Given the description of an element on the screen output the (x, y) to click on. 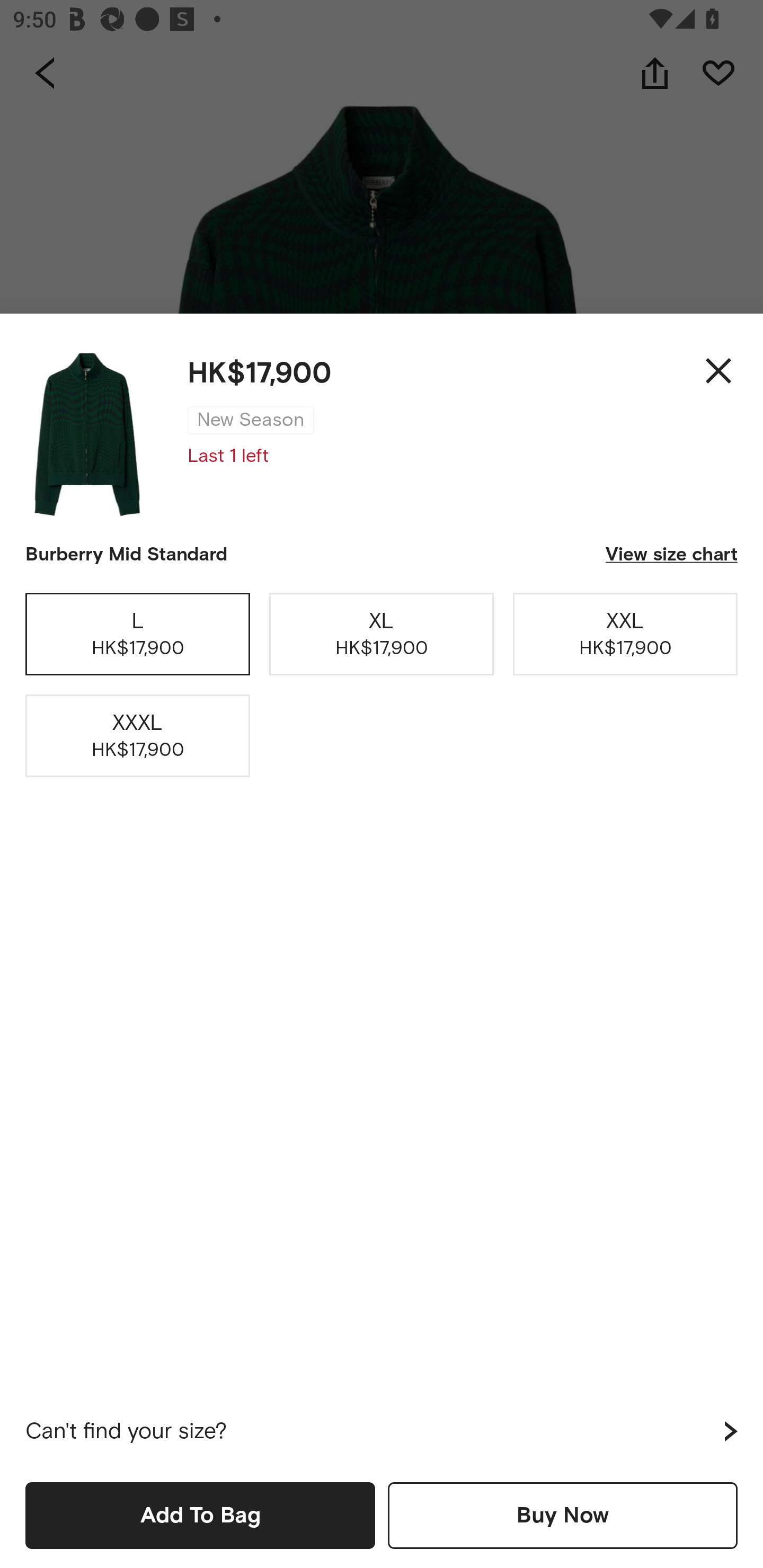
L HK$17,900 (137, 633)
XL HK$17,900 (381, 633)
XXL HK$17,900 (624, 633)
XXXL HK$17,900 (137, 735)
Can't find your size? (381, 1431)
Add To Bag (200, 1515)
Buy Now (562, 1515)
